Given the description of an element on the screen output the (x, y) to click on. 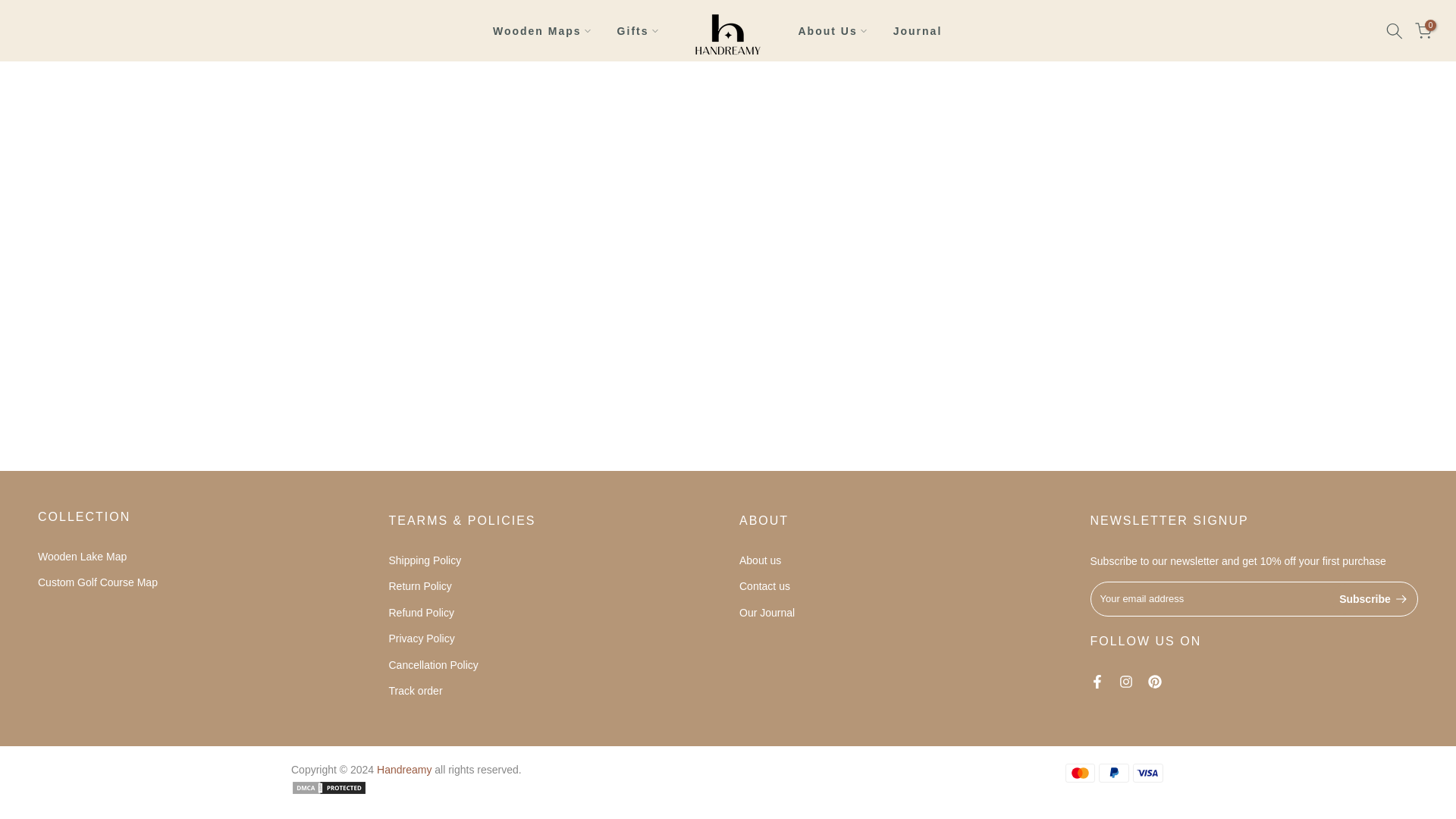
DMCA.com Protection Status (328, 787)
Wooden Lake Map (81, 556)
Privacy Policy (421, 638)
Subscribe (1373, 598)
Contact us (764, 585)
Return Policy (419, 585)
Track order (415, 690)
0 (1423, 30)
About us (759, 560)
About Us (831, 31)
Our Journal (766, 612)
Shipping Policy (424, 560)
Custom Golf Course Map (97, 582)
Wooden Maps (541, 31)
Refund Policy (420, 612)
